Given the description of an element on the screen output the (x, y) to click on. 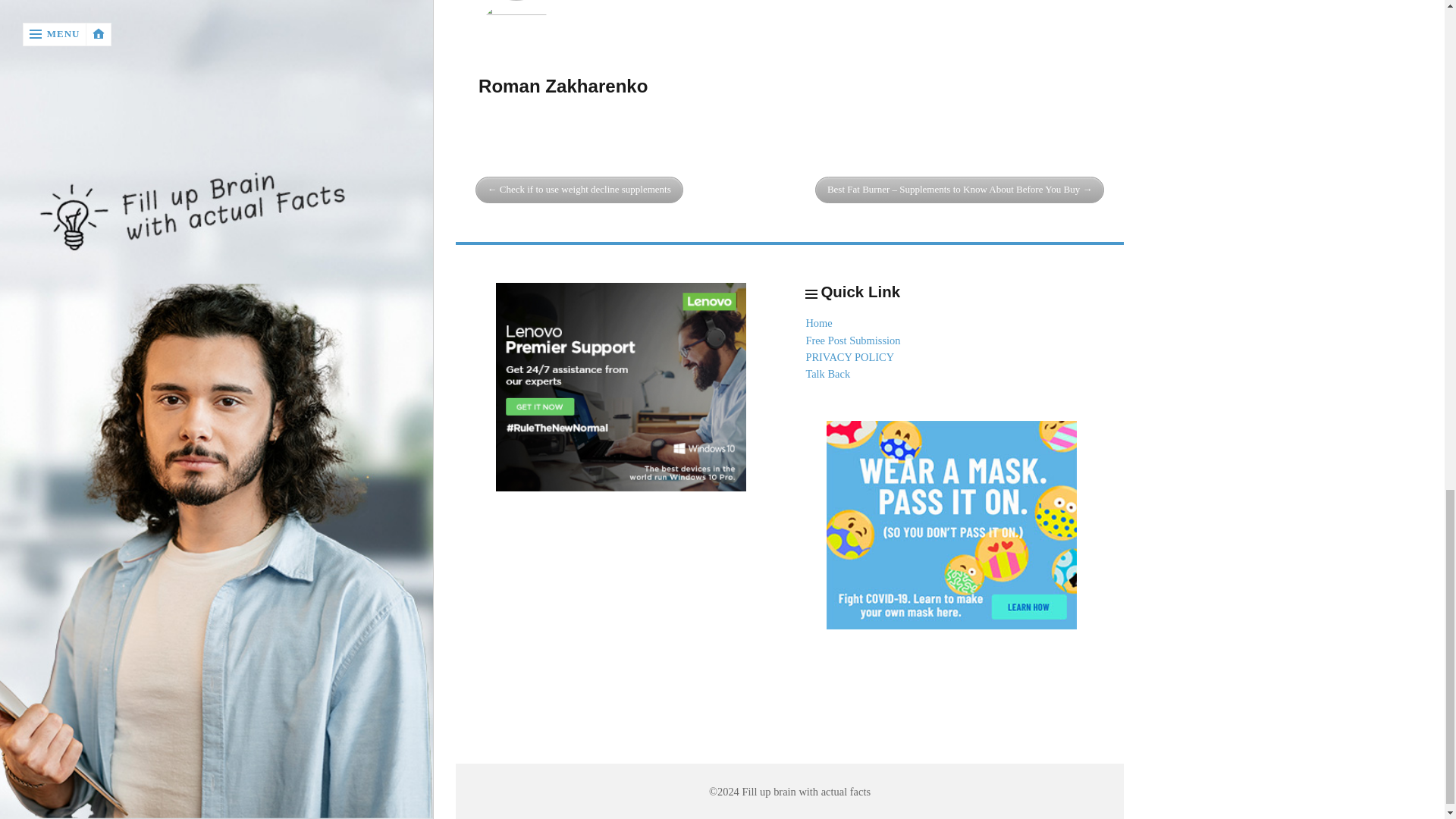
Talk Back (827, 373)
Free Post Submission (852, 340)
PRIVACY POLICY (849, 357)
Home (818, 322)
Check if to use weight decline supplements (579, 189)
